Given the description of an element on the screen output the (x, y) to click on. 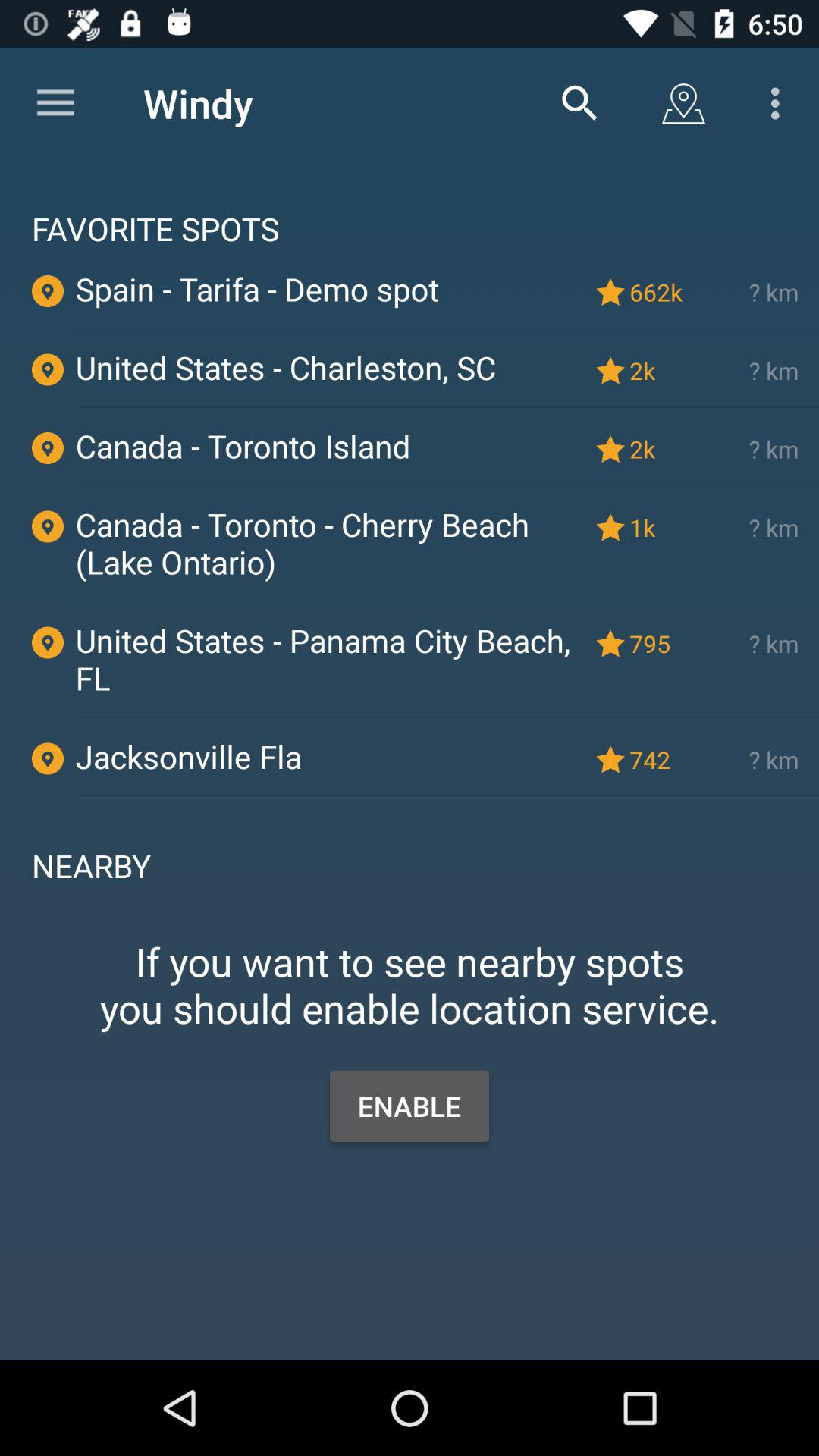
select the icon below united states charleston (448, 406)
